Given the description of an element on the screen output the (x, y) to click on. 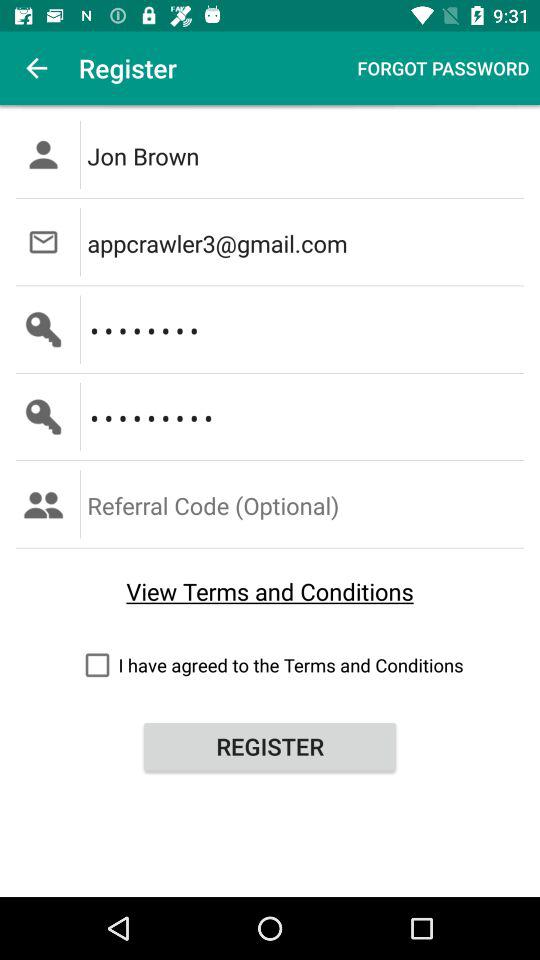
jump to the appcrawler3@gmail.com item (306, 242)
